Given the description of an element on the screen output the (x, y) to click on. 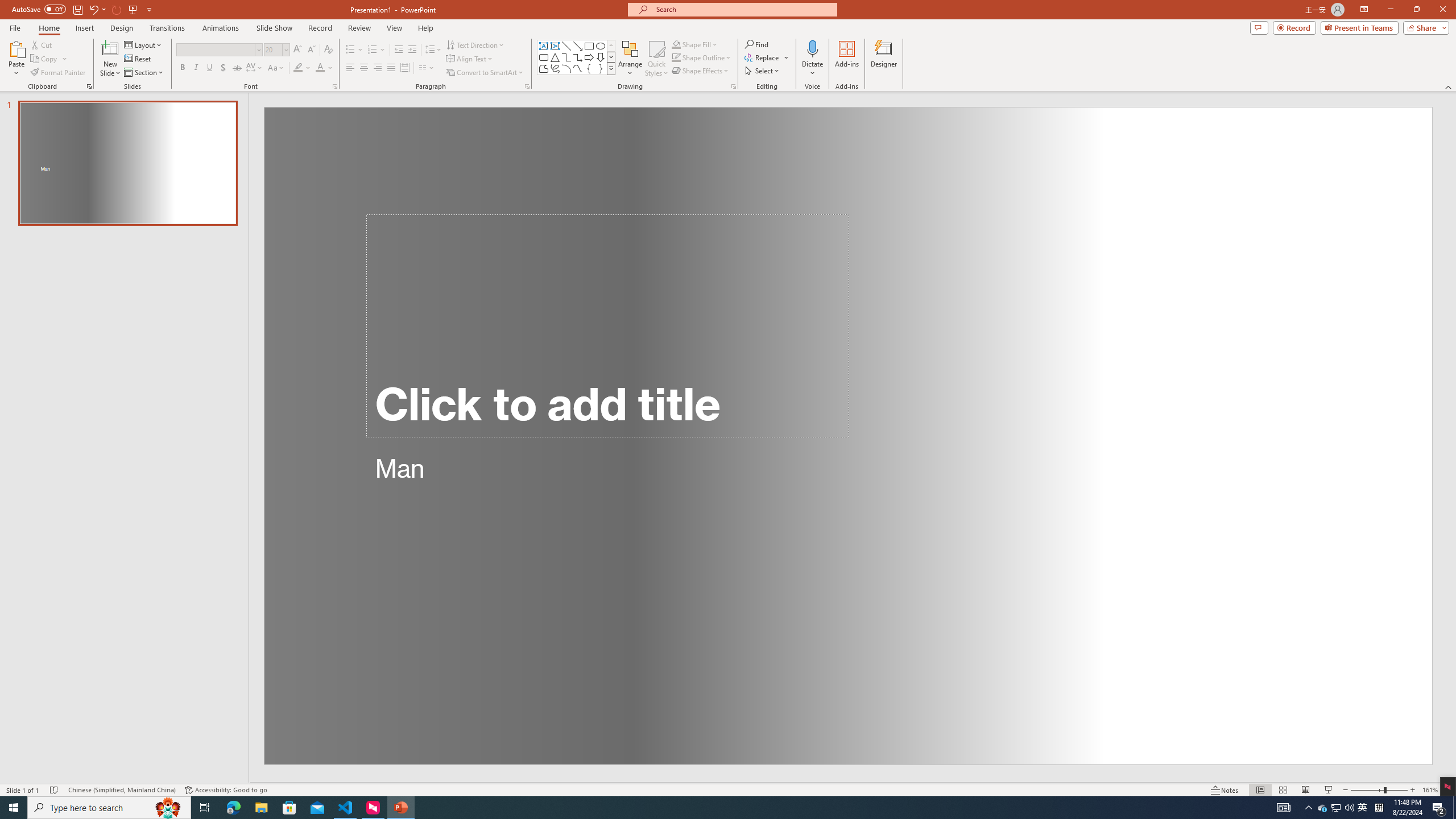
Spell Check No Errors (54, 790)
Cut (42, 44)
Format Painter (58, 72)
Layout (143, 44)
Share (1423, 27)
New Slide (110, 58)
Find... (756, 44)
Shadow (223, 67)
Animations (220, 28)
Customize Quick Access Toolbar (149, 9)
Left Brace (589, 68)
Font Size (276, 49)
AutoSave (38, 9)
Underline (209, 67)
